Given the description of an element on the screen output the (x, y) to click on. 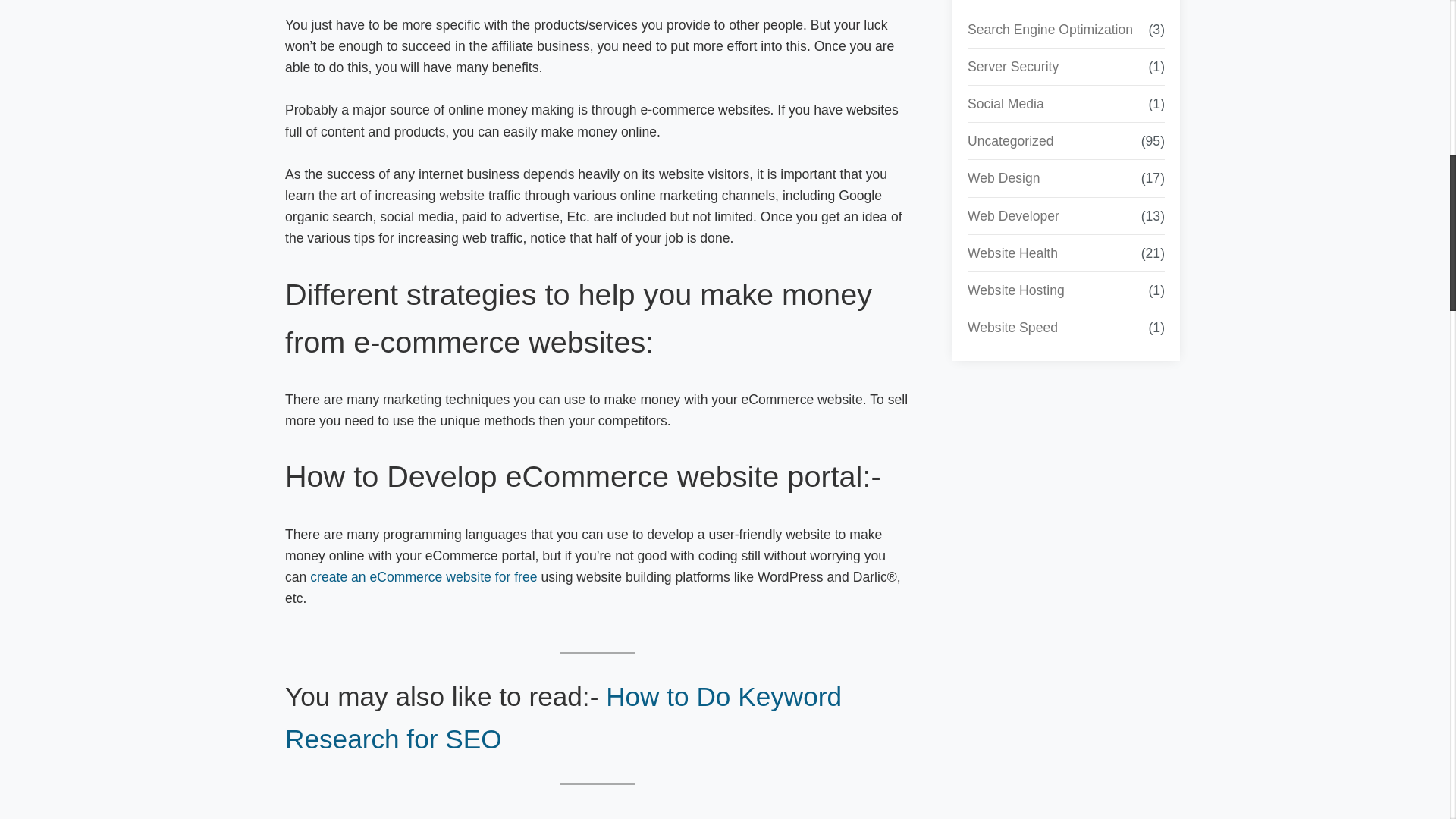
Website Speed (1013, 327)
Social Media (1005, 103)
create an eCommerce website for free (423, 576)
Web Design (1004, 178)
eCOmmerce (1005, 1)
Website Hosting (1016, 290)
Website Health (1013, 252)
How to Do Keyword Research for SEO (563, 717)
Server Security (1013, 66)
Web Developer (1013, 215)
Uncategorized (1010, 140)
Search Engine Optimization (1050, 29)
